Given the description of an element on the screen output the (x, y) to click on. 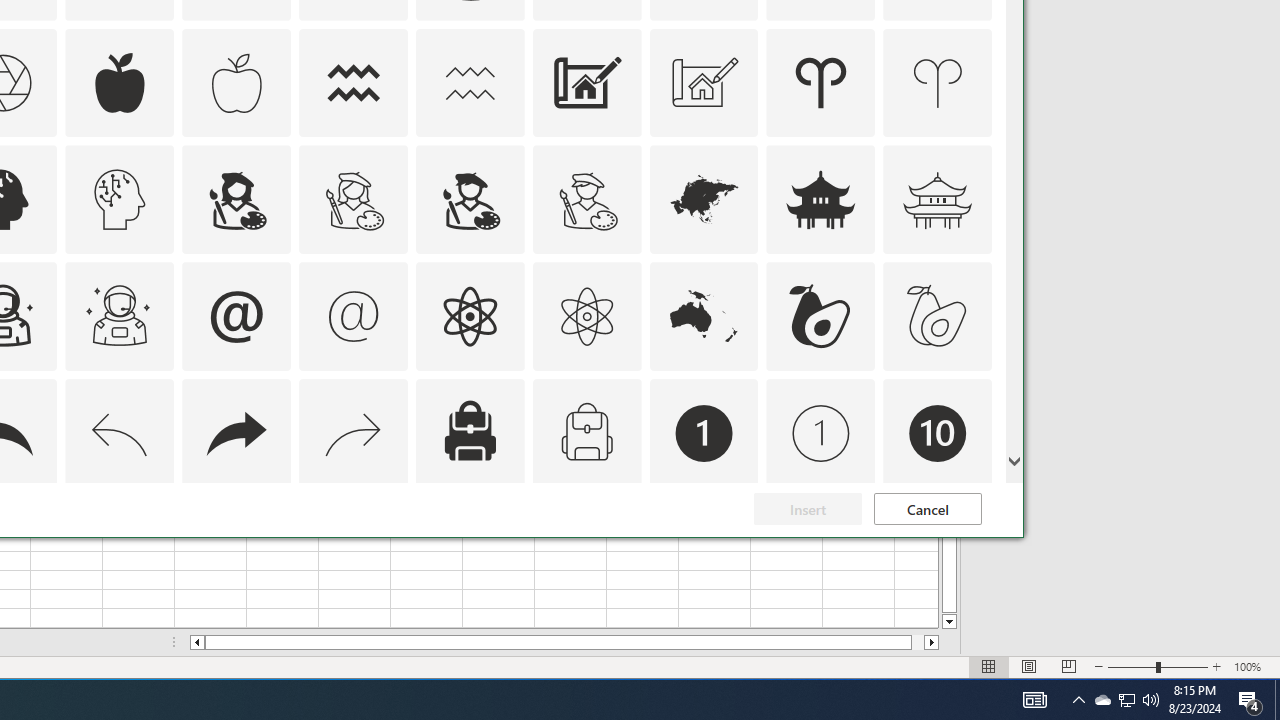
AutomationID: Icons_AsianTemple (820, 200)
Thumbnail (977, 511)
AutomationID: Icons_Aries_M (938, 82)
Cancel (927, 508)
AutomationID: Icons_Apple_M (236, 82)
AutomationID: Icons_Badge6 (120, 550)
